Given the description of an element on the screen output the (x, y) to click on. 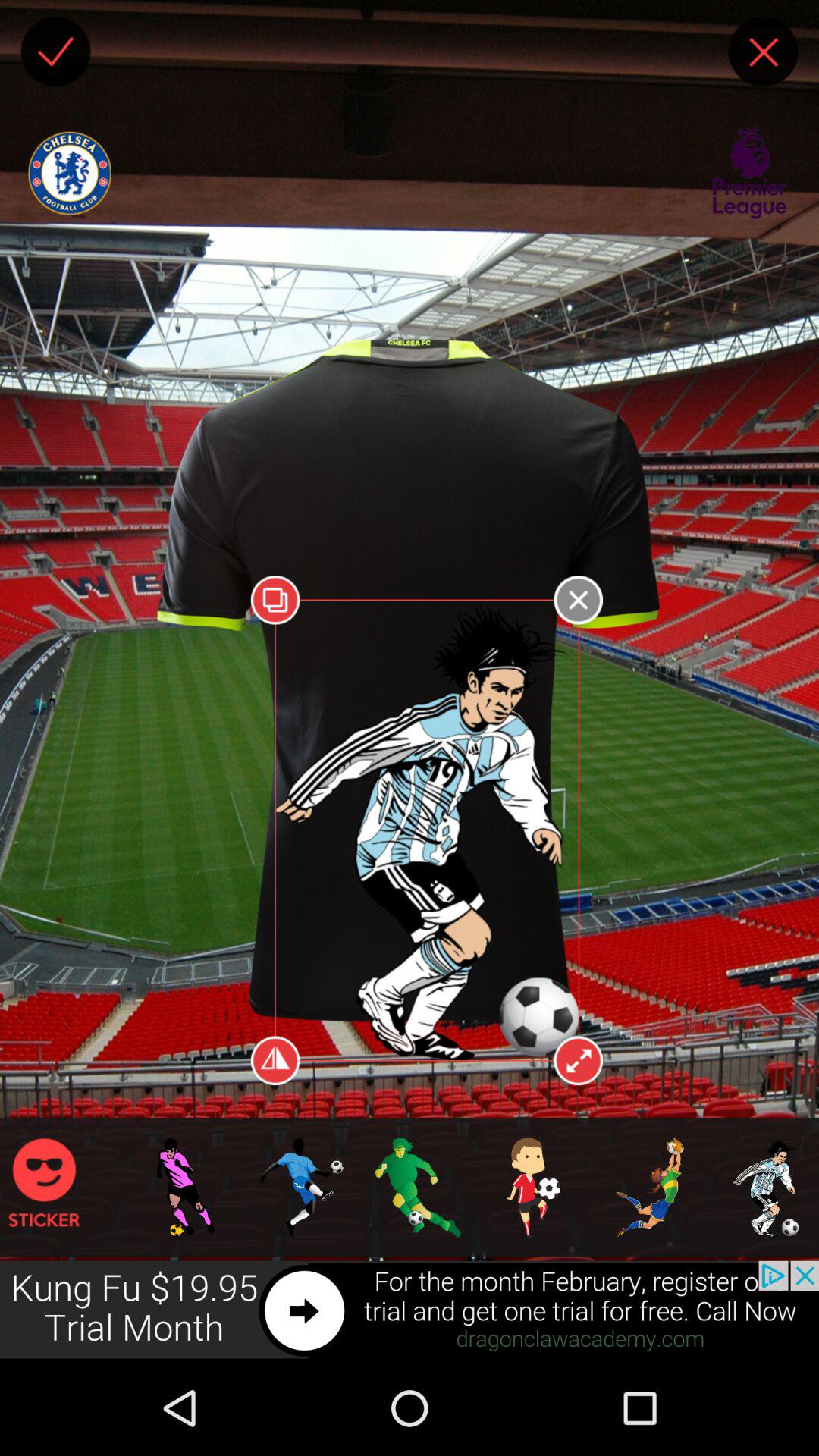
click for advertisement (409, 1310)
